Given the description of an element on the screen output the (x, y) to click on. 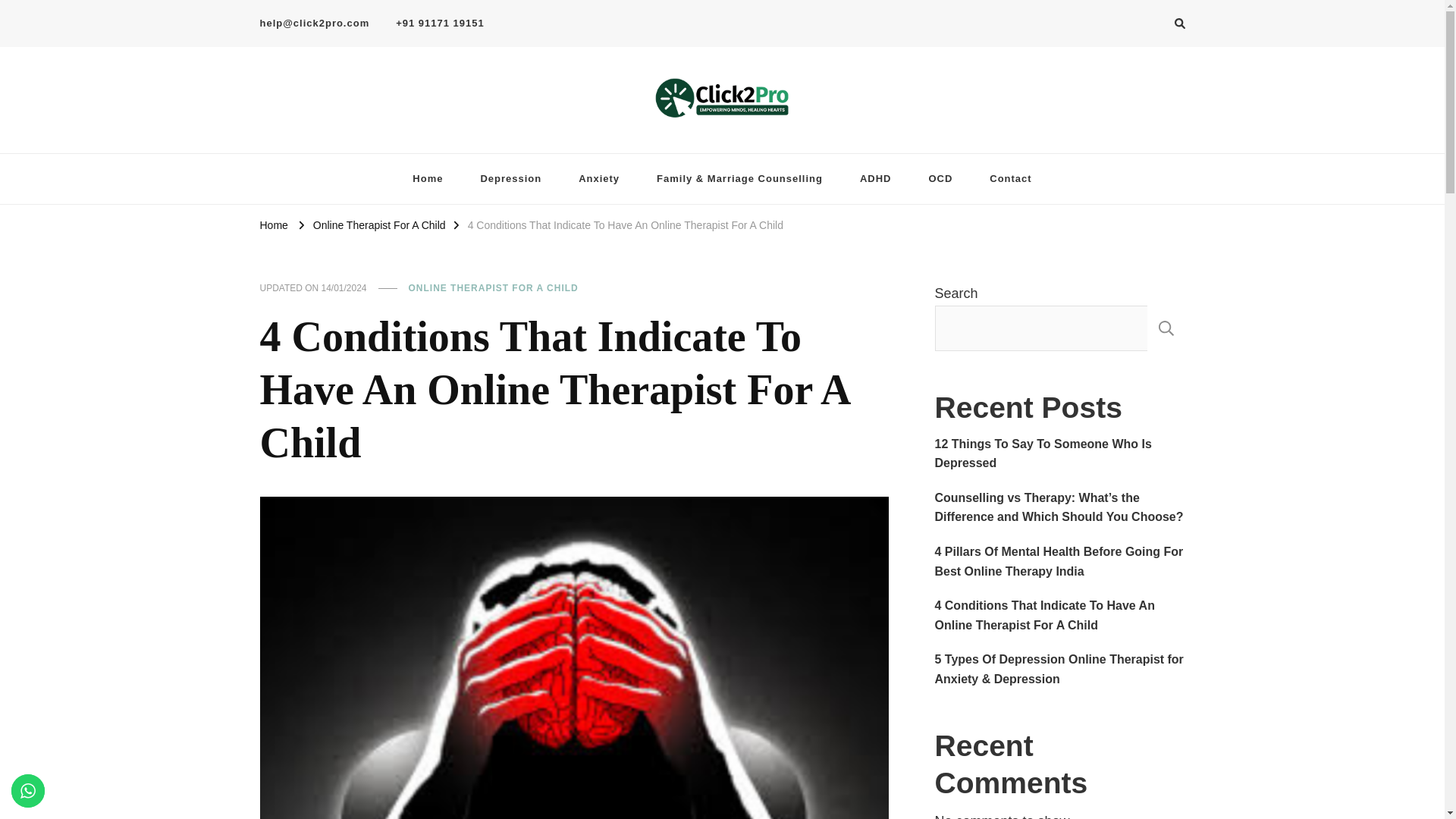
ADHD (875, 178)
ONLINE THERAPIST FOR A CHILD (492, 288)
Home (272, 224)
Contact (1010, 178)
OCD (940, 178)
Online Therapist For A Child (379, 224)
Home (428, 178)
Search (1152, 26)
Click2Pro (307, 145)
Anxiety (599, 178)
12 Things To Say To Someone Who Is Depressed  (1059, 453)
Depression (510, 178)
